Given the description of an element on the screen output the (x, y) to click on. 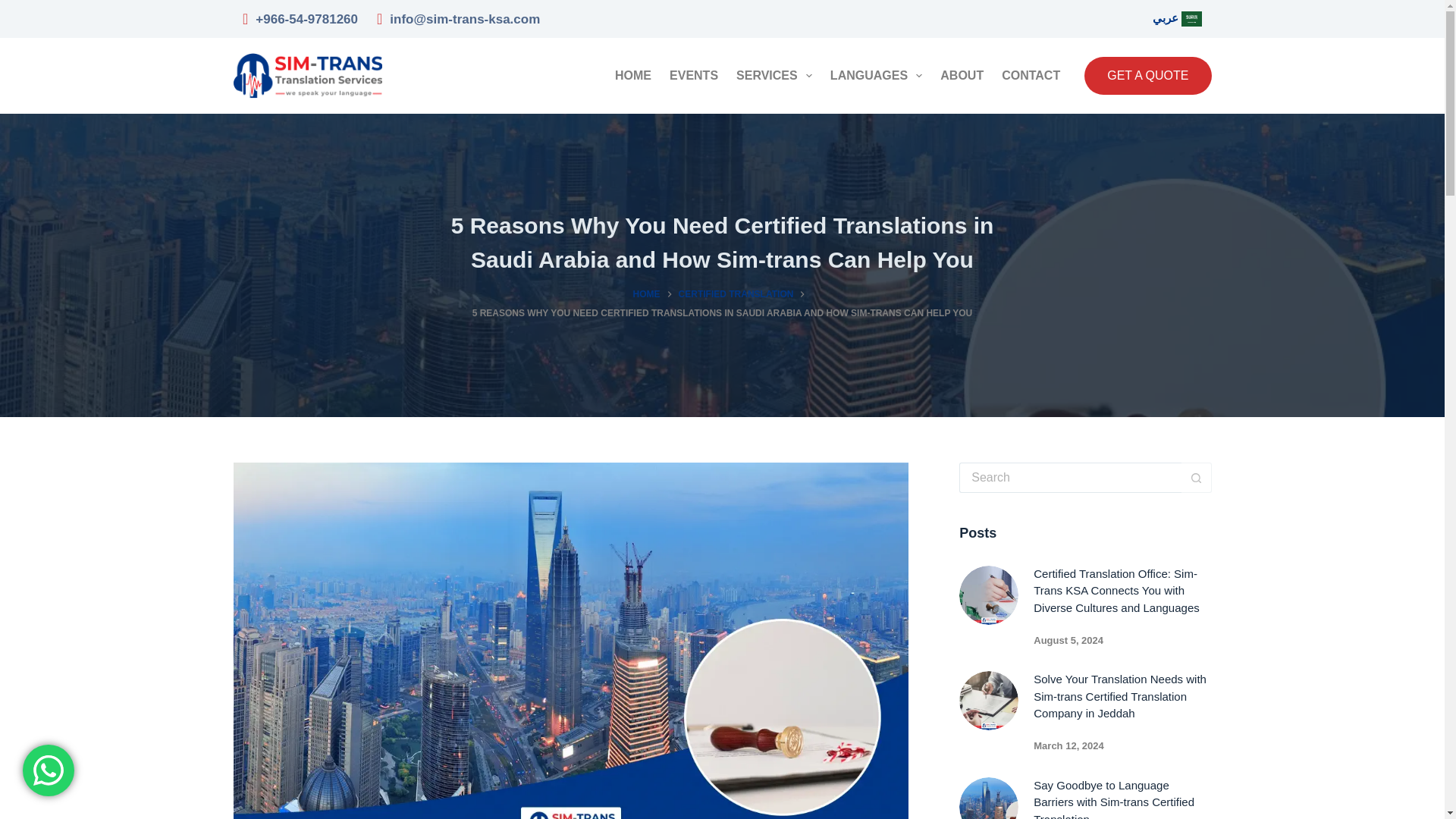
WhatsApp us (48, 770)
EVENTS (693, 75)
SERVICES (773, 75)
Skip to content (15, 7)
Search for... (1069, 477)
HOME (633, 75)
